Given the description of an element on the screen output the (x, y) to click on. 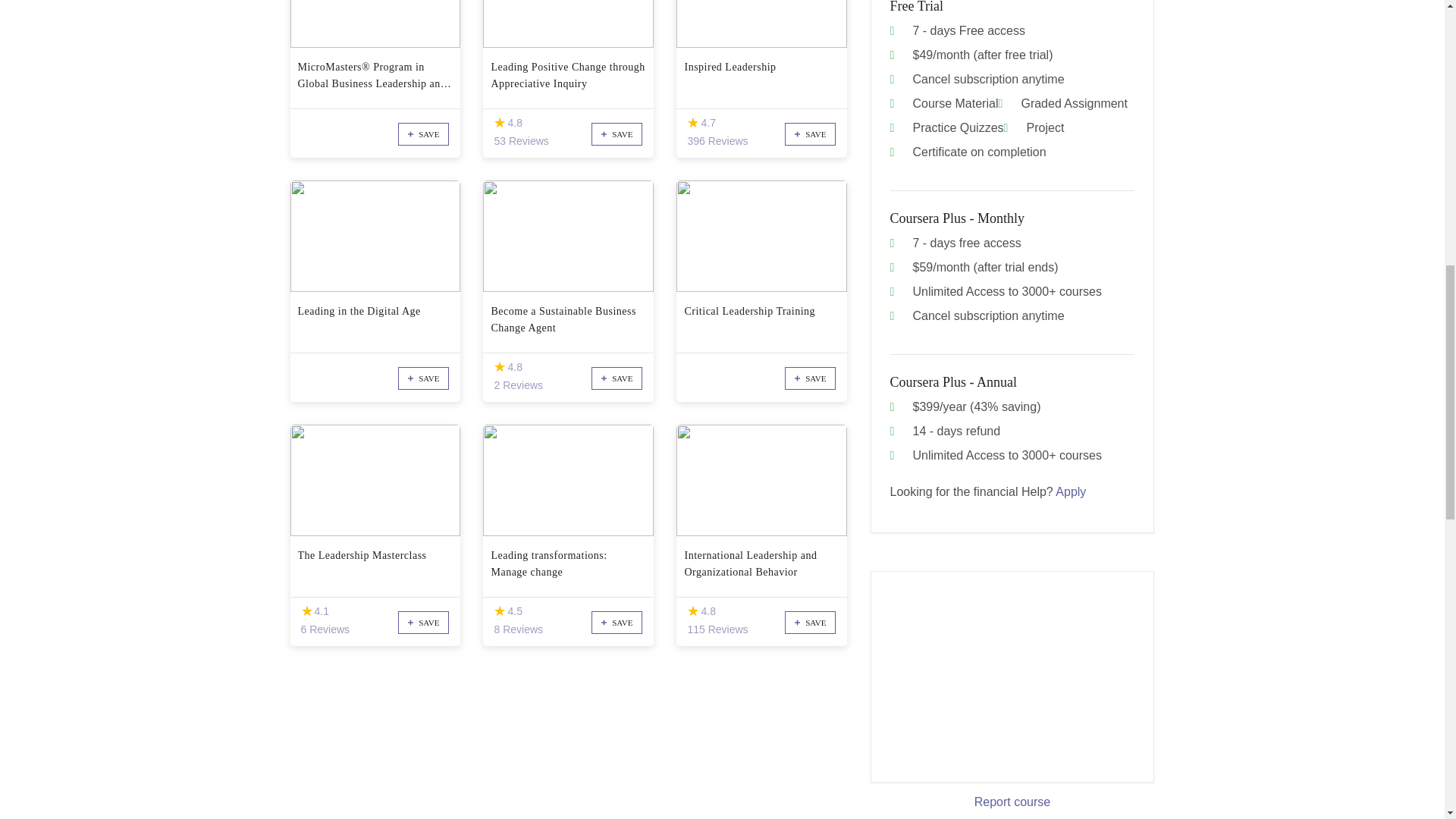
SAVE (809, 133)
4.7 (692, 123)
Leading Positive Change through Appreciative Inquiry (568, 75)
Inspired Leadership (762, 75)
4.5 (499, 611)
SAVE (422, 133)
4.8 (692, 611)
4.8 (499, 367)
4.1 (306, 611)
4.8 (499, 123)
SAVE (616, 133)
Leading in the Digital Age (374, 319)
